Given the description of an element on the screen output the (x, y) to click on. 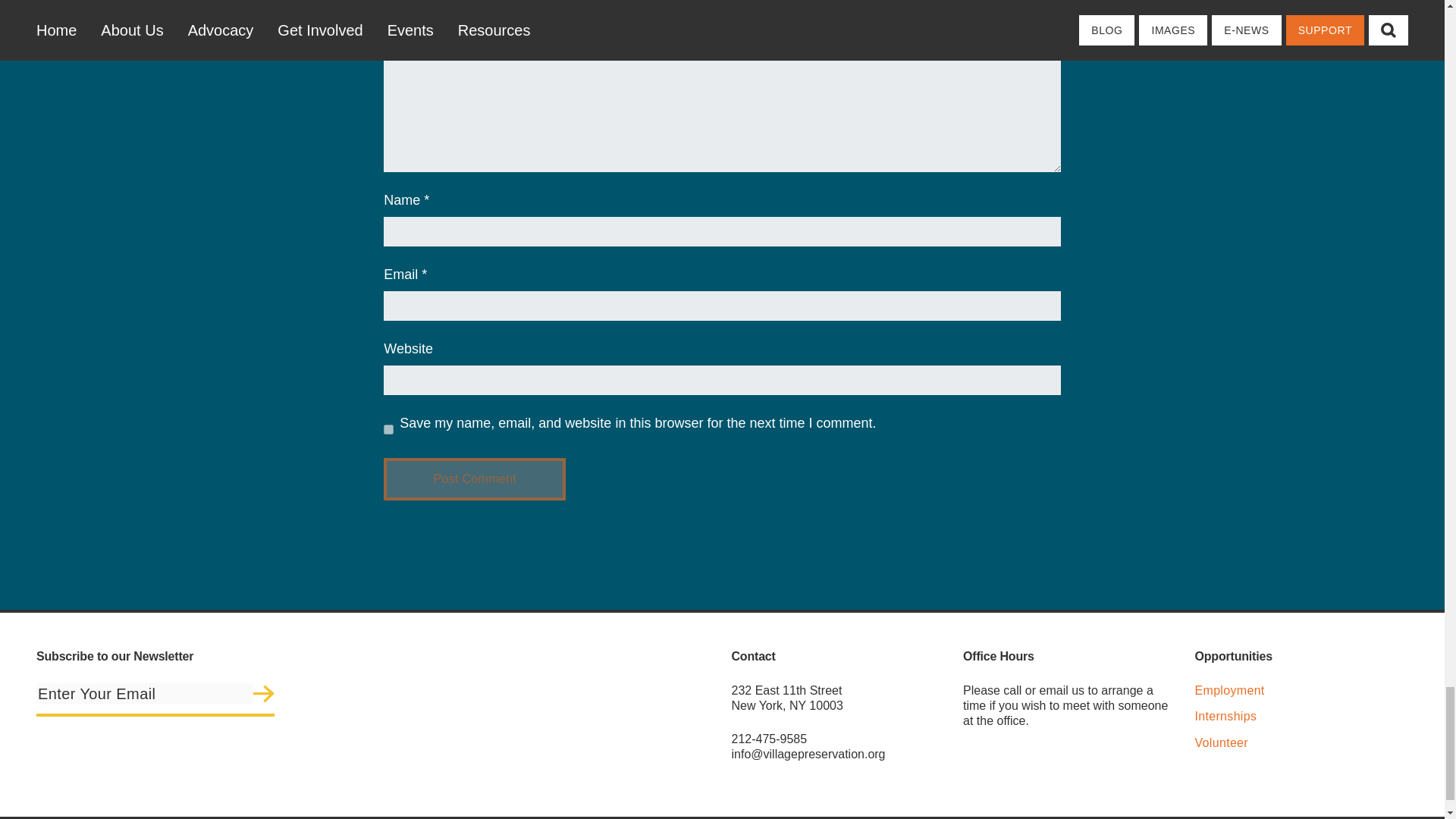
Post Comment (475, 478)
